Given the description of an element on the screen output the (x, y) to click on. 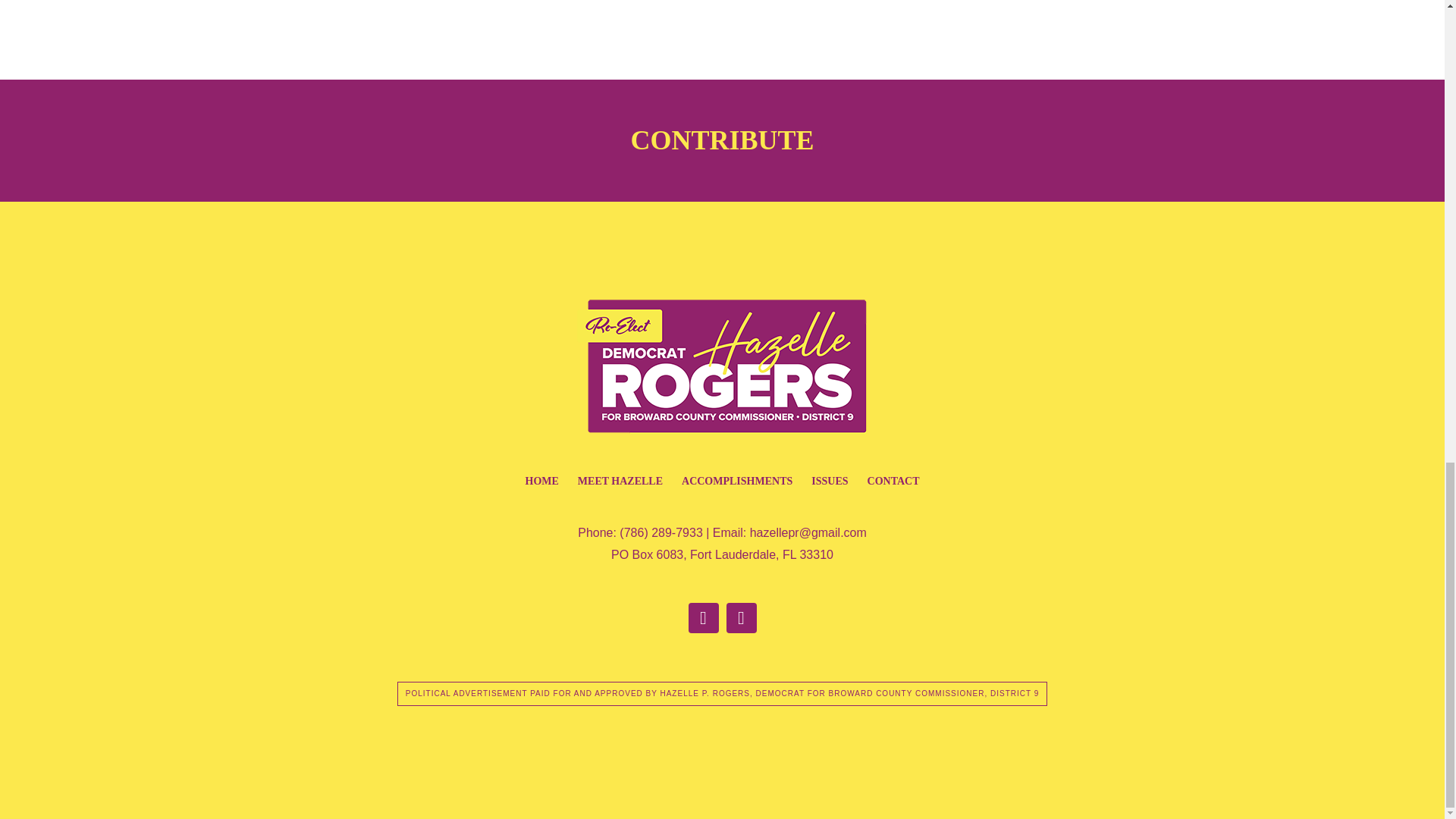
MEET HAZELLE (620, 481)
Facebook (703, 617)
HOME (540, 481)
Instagram (741, 617)
